Given the description of an element on the screen output the (x, y) to click on. 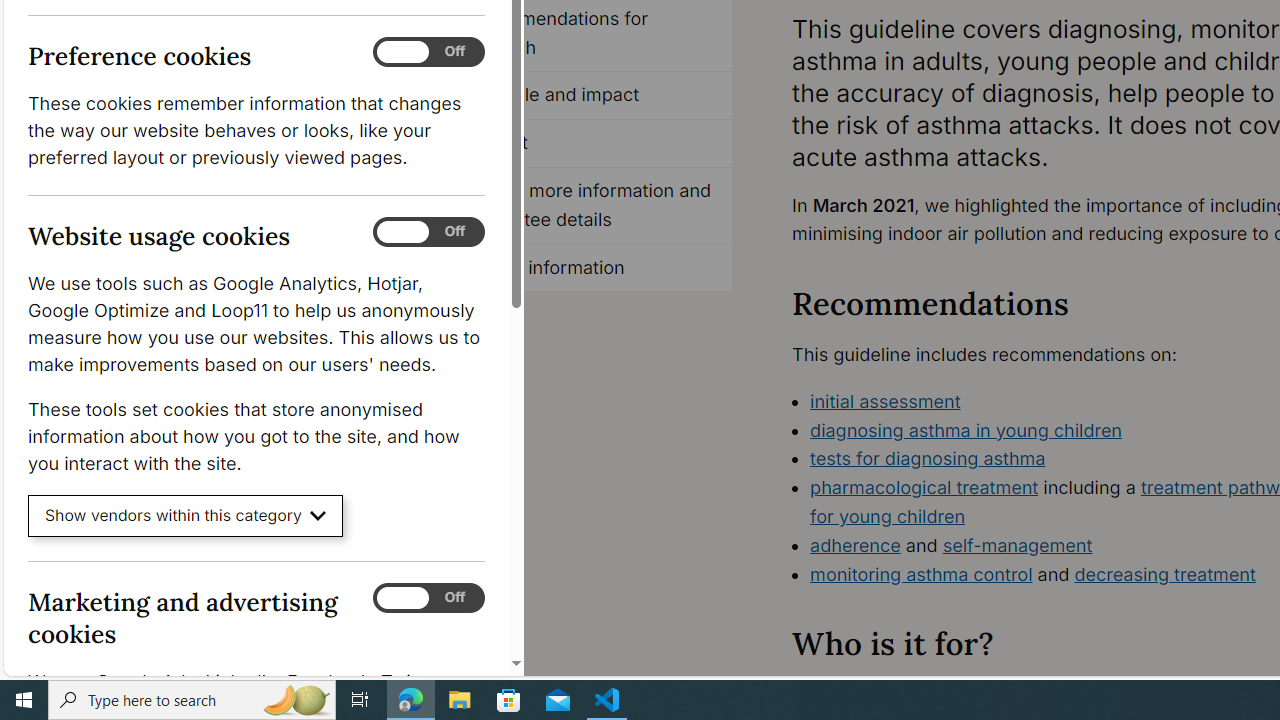
monitoring asthma control (921, 573)
tests for diagnosing asthma (927, 458)
Preference cookies (429, 52)
self-management (1017, 544)
pharmacological treatment (924, 487)
Show vendors within this category (185, 516)
Marketing and advertising cookies (429, 597)
Finding more information and committee details (588, 205)
Context (587, 143)
Website usage cookies (429, 232)
Finding more information and committee details (587, 205)
Rationale and impact (587, 96)
adherence (855, 544)
for young children (888, 515)
diagnosing asthma in young children (966, 429)
